Given the description of an element on the screen output the (x, y) to click on. 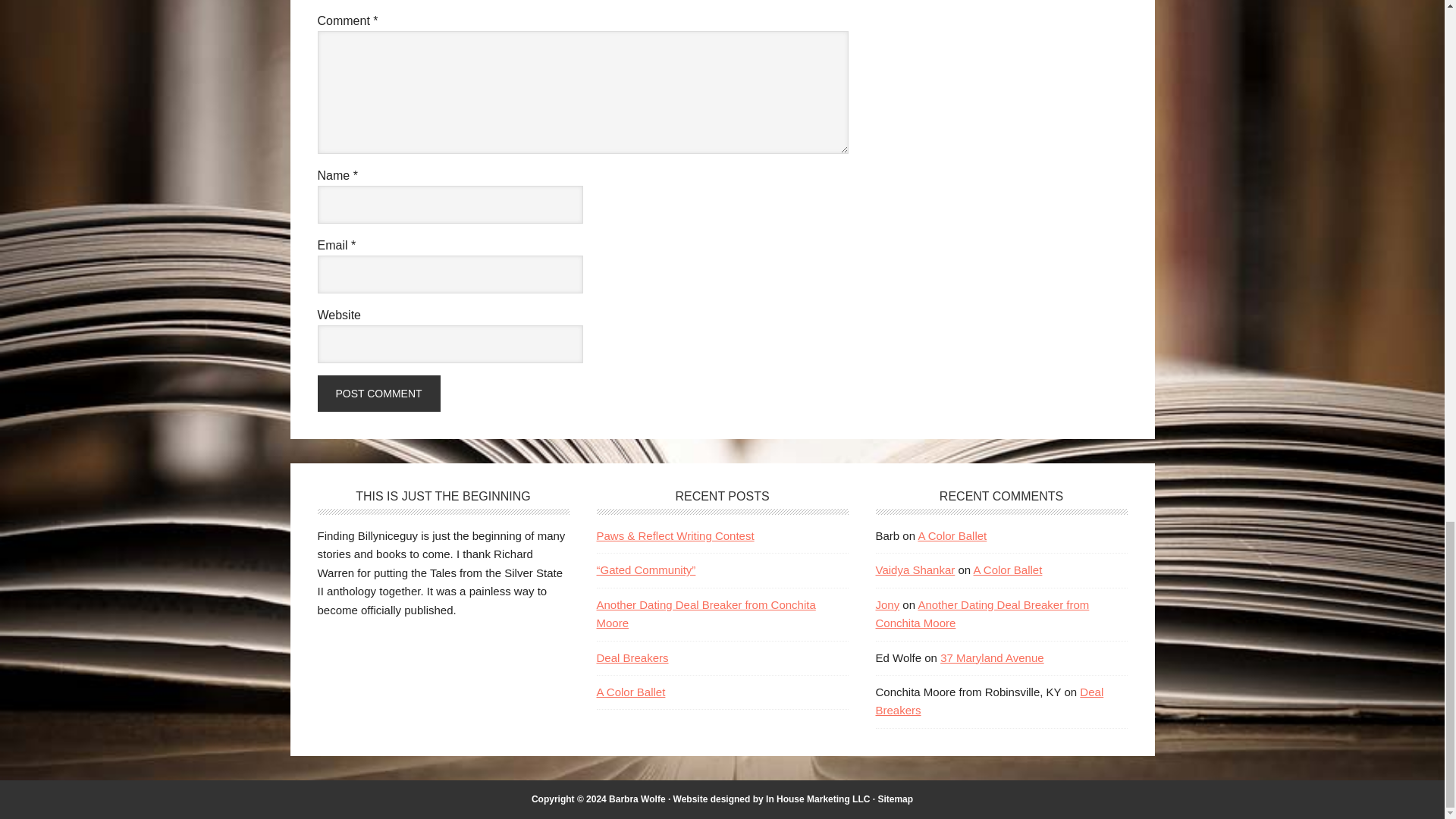
Post Comment (378, 393)
Post Comment (378, 393)
